Given the description of an element on the screen output the (x, y) to click on. 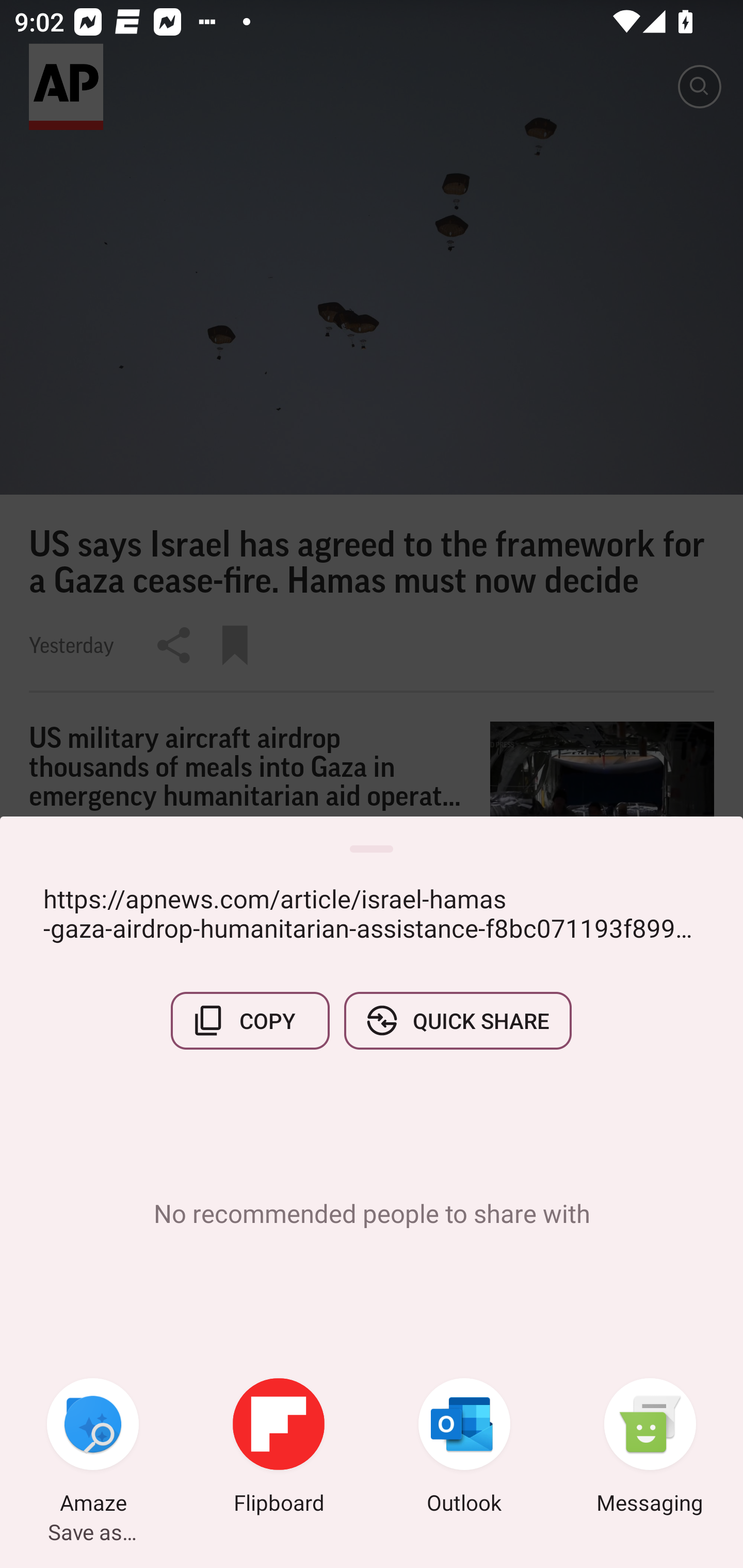
COPY (249, 1020)
QUICK SHARE (457, 1020)
Amaze Save as… (92, 1448)
Flipboard (278, 1448)
Outlook (464, 1448)
Messaging (650, 1448)
